Given the description of an element on the screen output the (x, y) to click on. 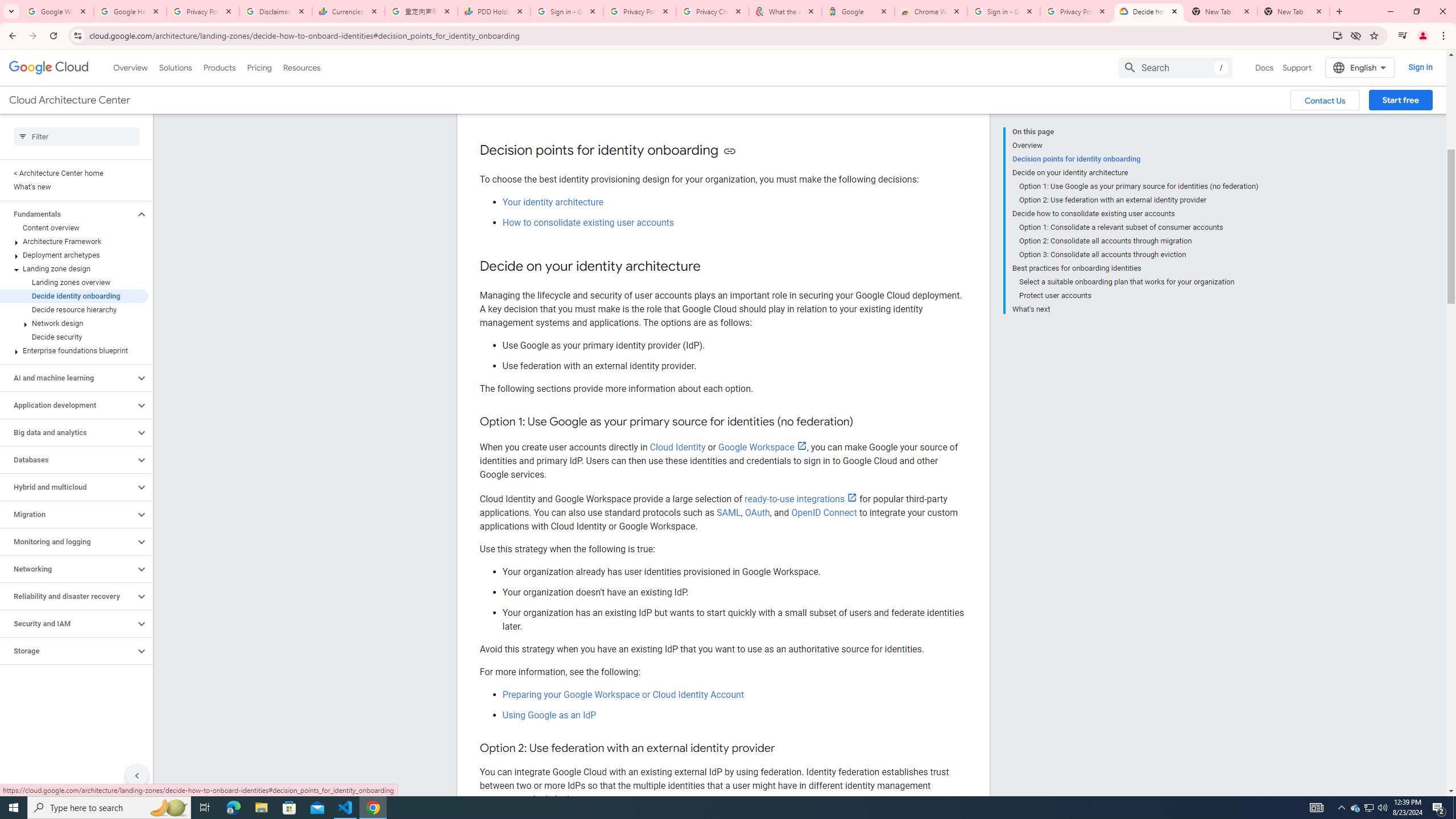
OpenID Connect (823, 512)
Using Google as an IdP (549, 715)
How to consolidate existing user accounts (588, 222)
overview of identity and access management (715, 99)
Option 3: Consolidate all accounts through eviction (1138, 254)
Docs, selected (1264, 67)
Option 2: Use federation with an external identity provider (1138, 200)
New Tab (1293, 11)
